Given the description of an element on the screen output the (x, y) to click on. 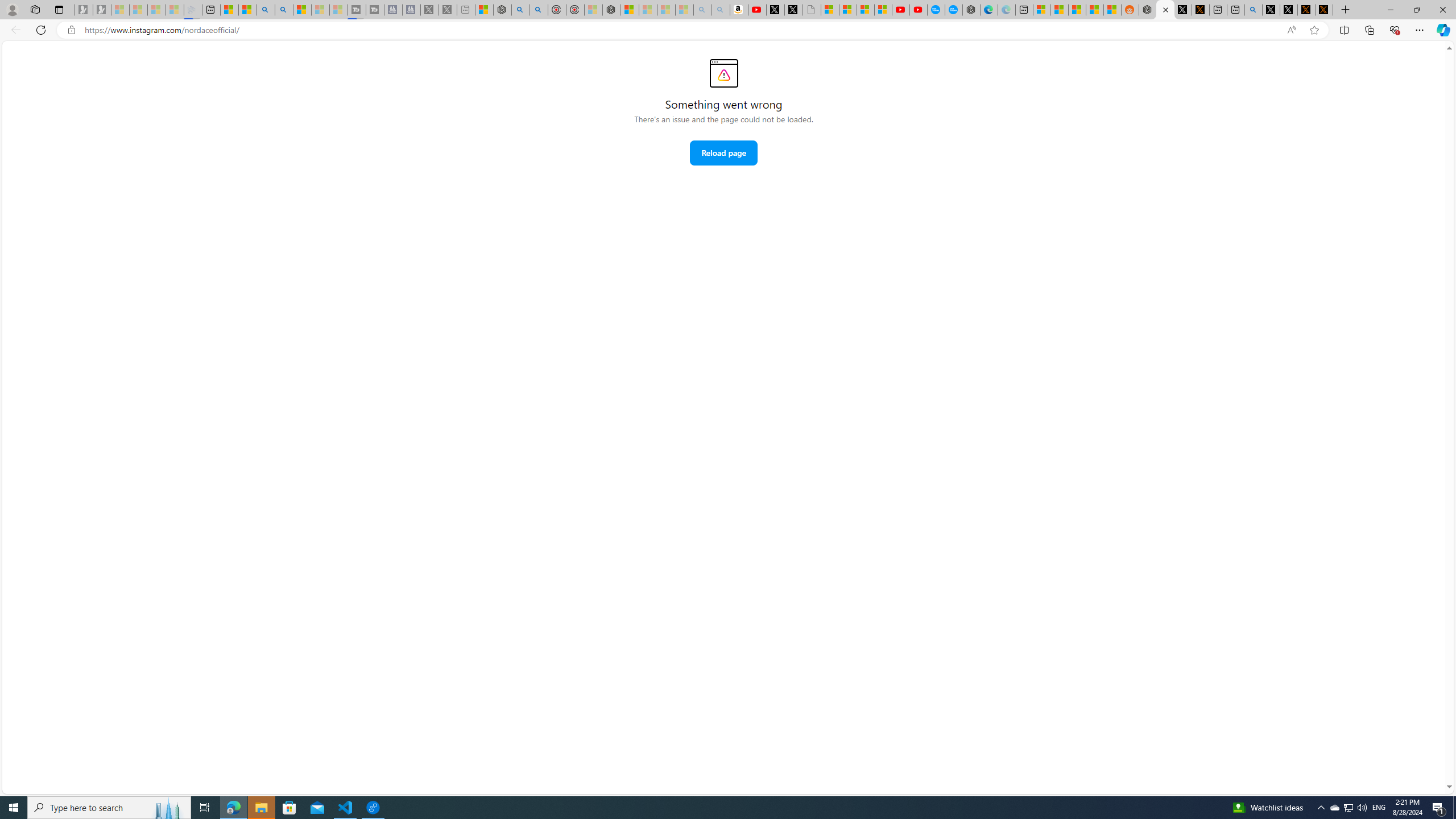
Microsoft Start - Sleeping (320, 9)
Profile / X (1270, 9)
